Given the description of an element on the screen output the (x, y) to click on. 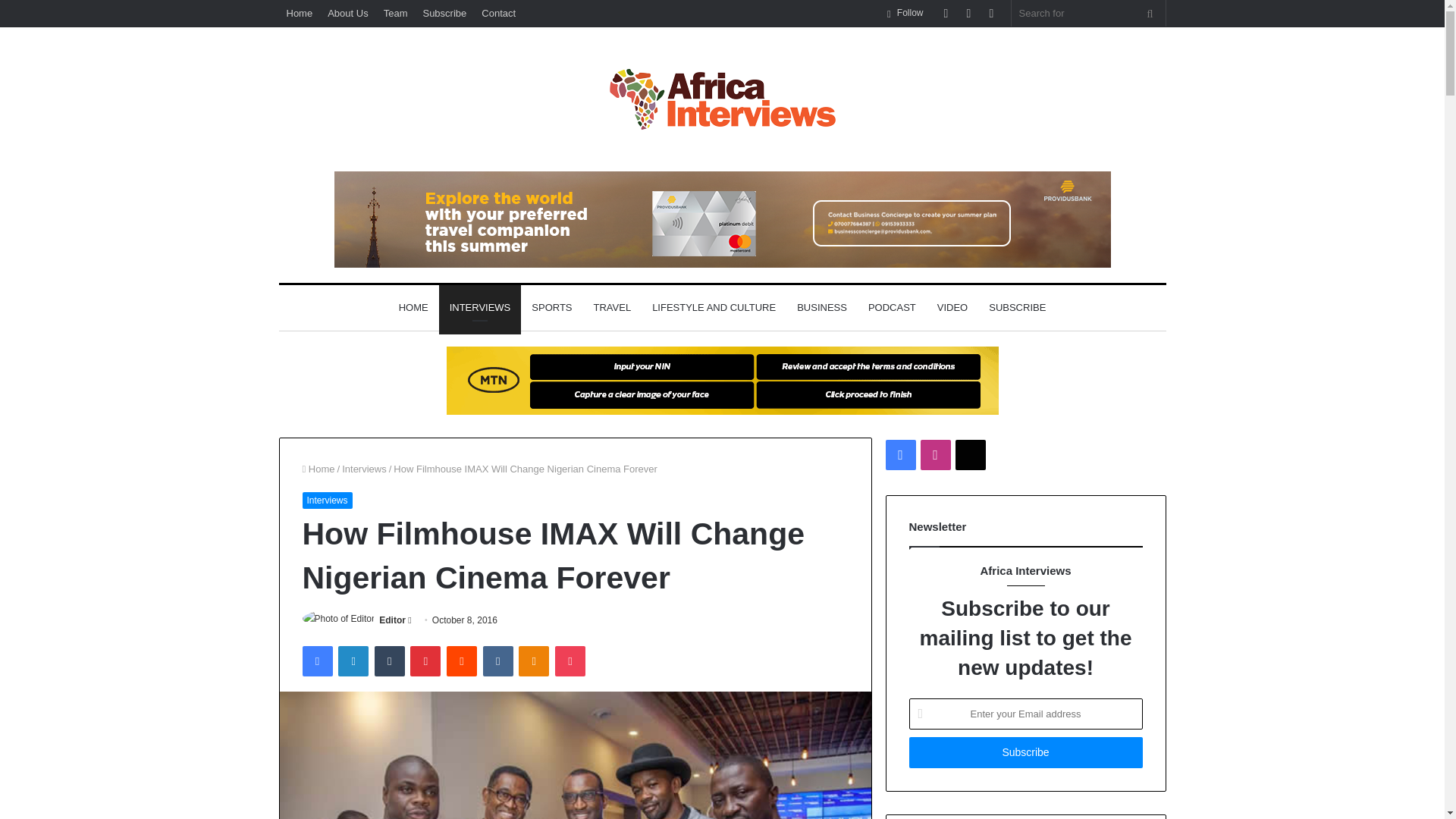
INTERVIEWS (480, 307)
Pinterest (425, 661)
VKontakte (498, 661)
Subscribe (444, 13)
Interviews (326, 500)
Home (317, 469)
Tumblr (389, 661)
Reddit (461, 661)
HOME (413, 307)
LIFESTYLE AND CULTURE (714, 307)
